Given the description of an element on the screen output the (x, y) to click on. 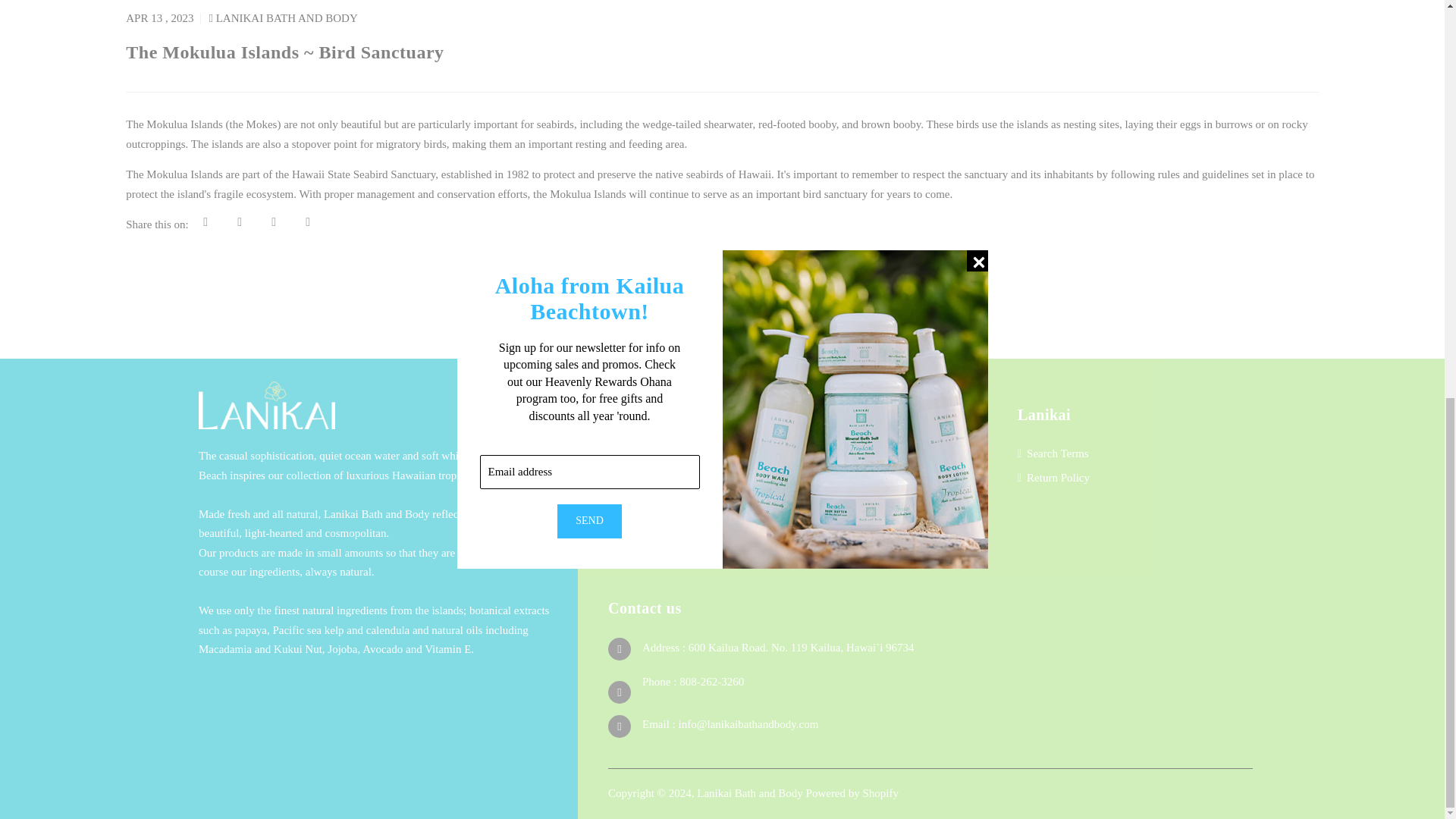
Pinterest (690, 481)
Instagram (692, 509)
Facebook (691, 453)
YouTube (690, 537)
